Given the description of an element on the screen output the (x, y) to click on. 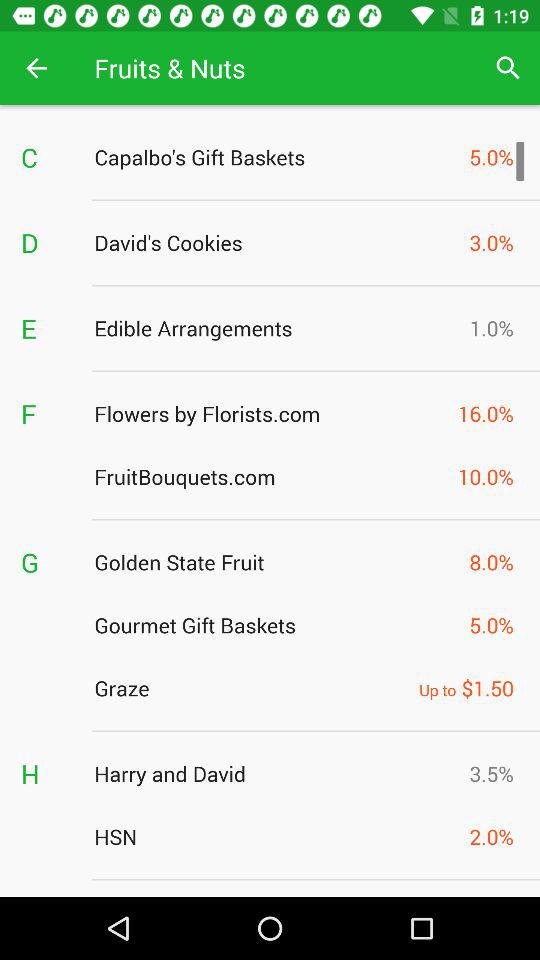
select app next to the fruits & nuts app (36, 68)
